Given the description of an element on the screen output the (x, y) to click on. 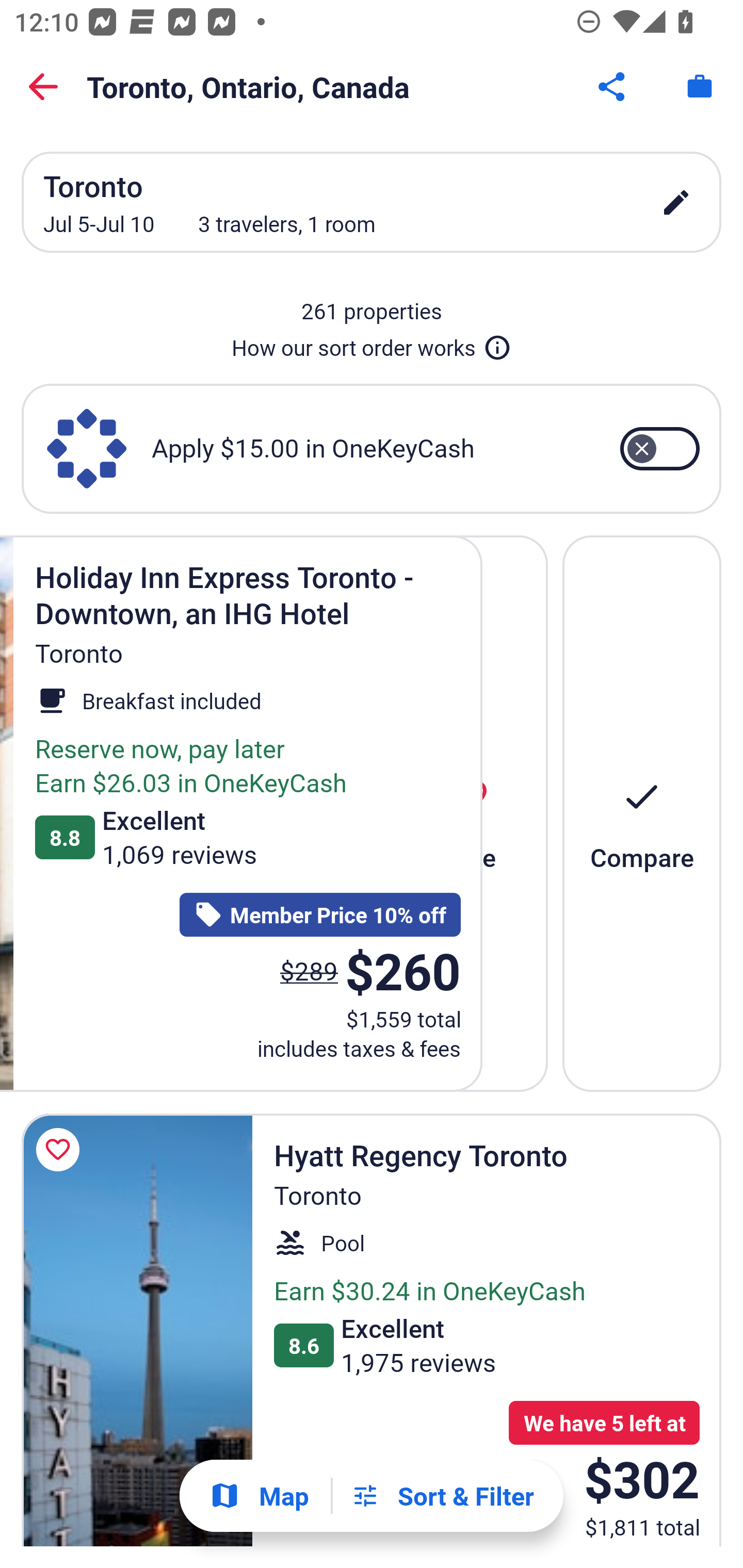
Back (43, 86)
Share Button (612, 86)
Trips. Button (699, 86)
Toronto Jul 5-Jul 10 3 travelers, 1 room edit (371, 202)
How our sort order works (371, 344)
Compare (641, 812)
$289 The price was $289 (308, 970)
Save Hyatt Regency Toronto to a trip (61, 1150)
Hyatt Regency Toronto (136, 1329)
Filters Sort & Filter Filters Button (442, 1495)
Show map Map Show map Button (258, 1495)
